Given the description of an element on the screen output the (x, y) to click on. 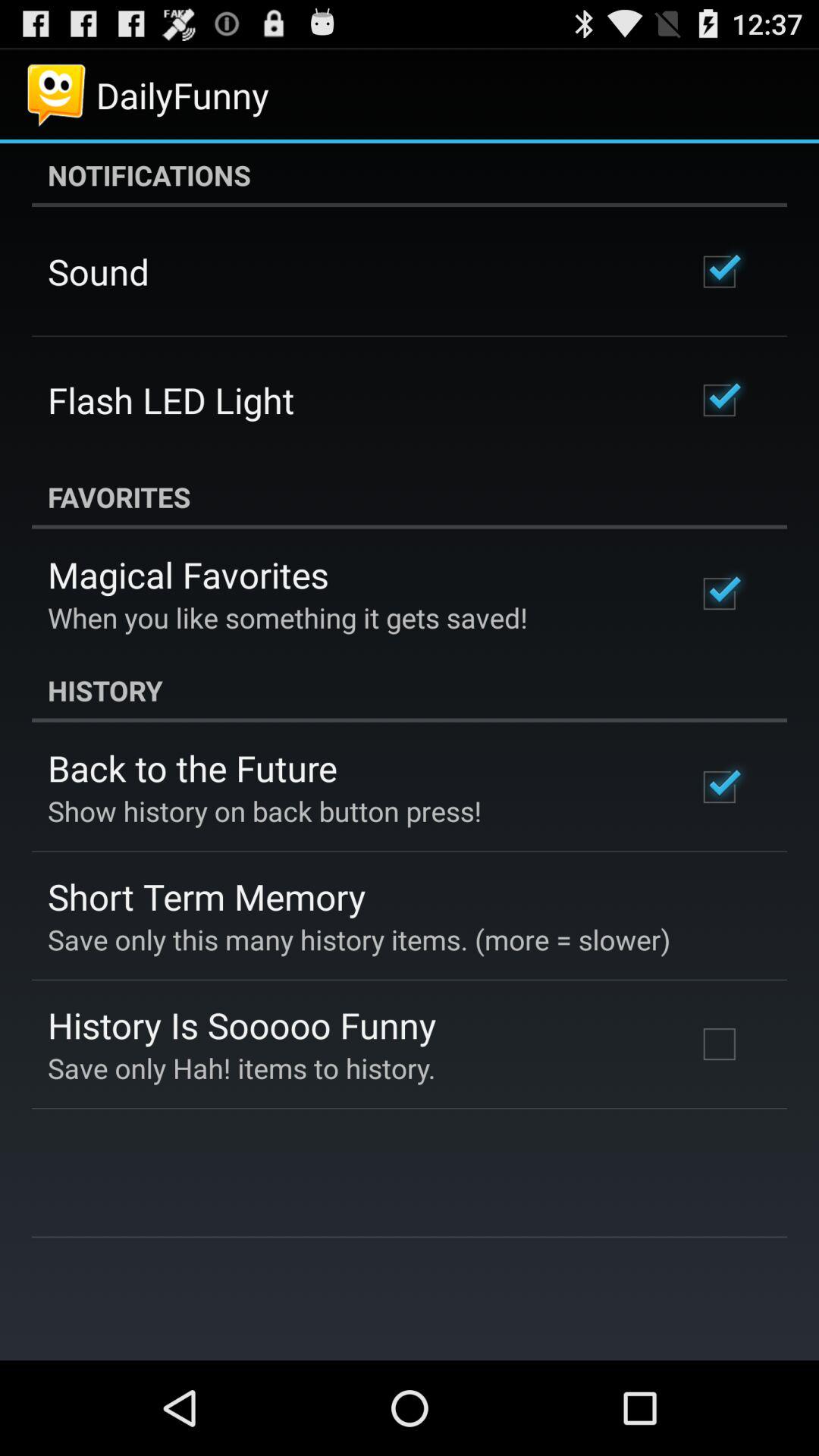
jump until when you like icon (287, 617)
